Given the description of an element on the screen output the (x, y) to click on. 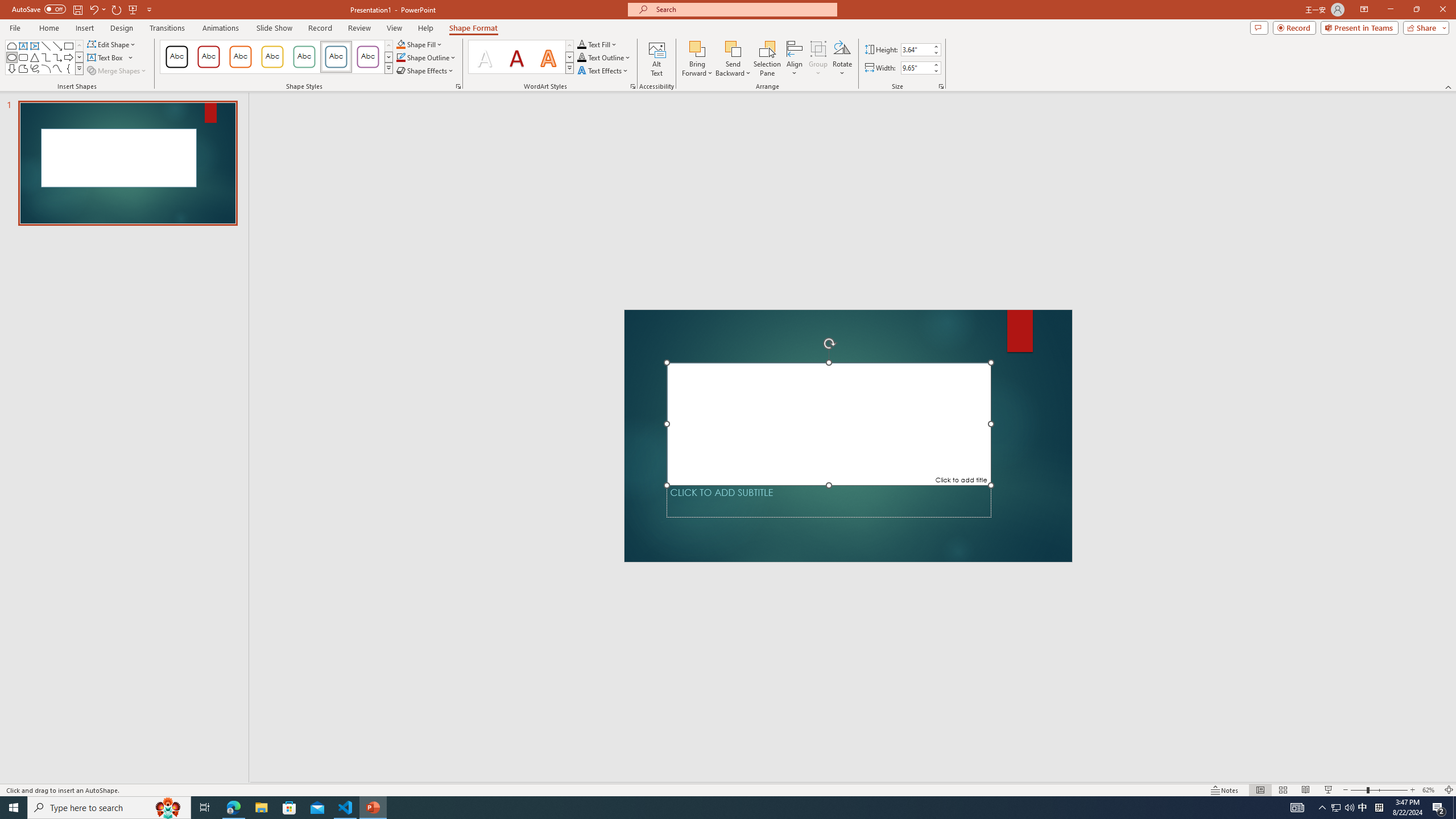
Fill: White, Text color 1; Shadow (484, 56)
Format Text Effects... (632, 85)
Send Backward (733, 58)
Shape Height (915, 49)
Align (794, 58)
Less (935, 70)
